Given the description of an element on the screen output the (x, y) to click on. 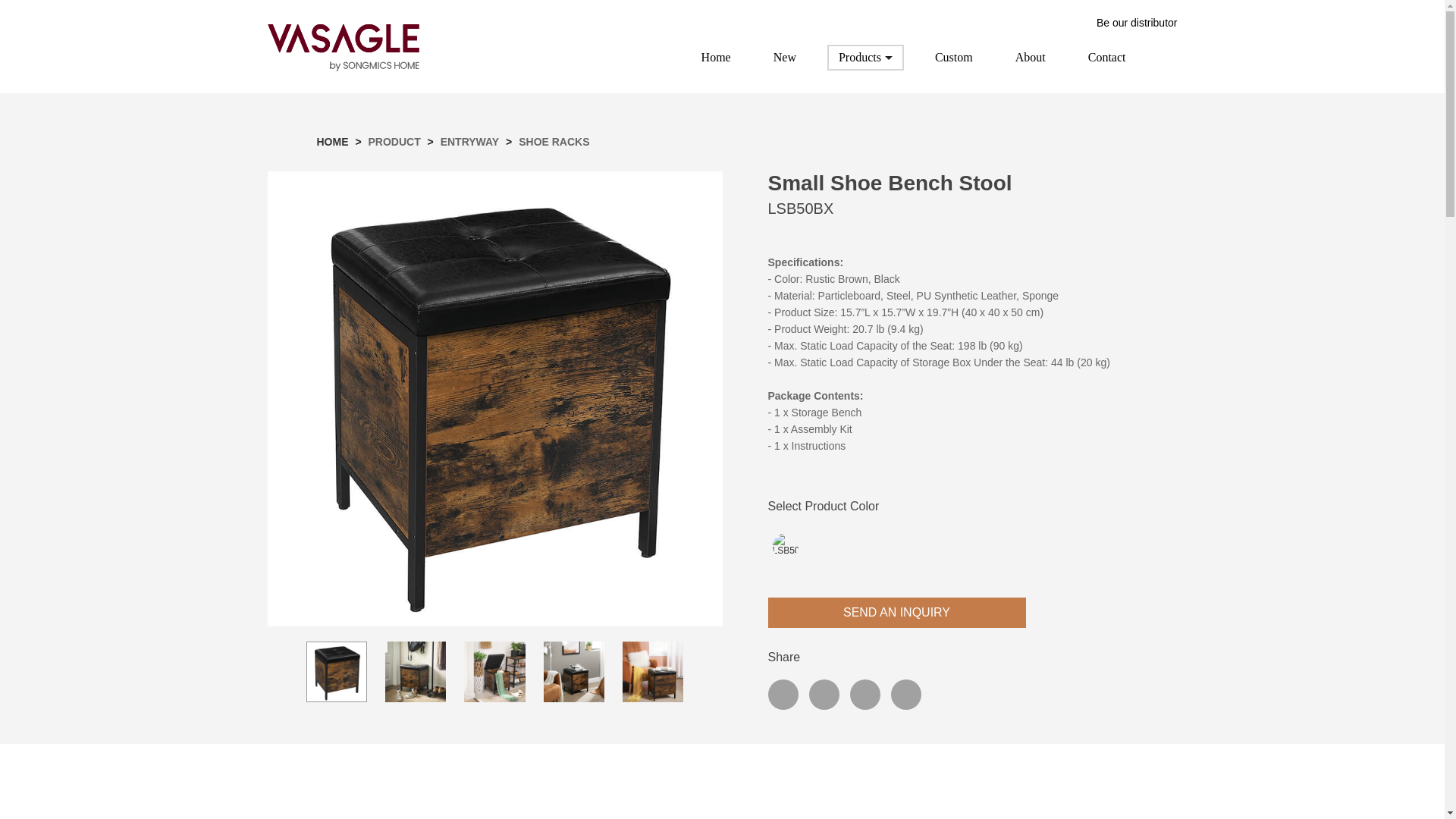
Be our distributor (1125, 22)
New (494, 671)
Products (784, 57)
Home (865, 57)
